Given the description of an element on the screen output the (x, y) to click on. 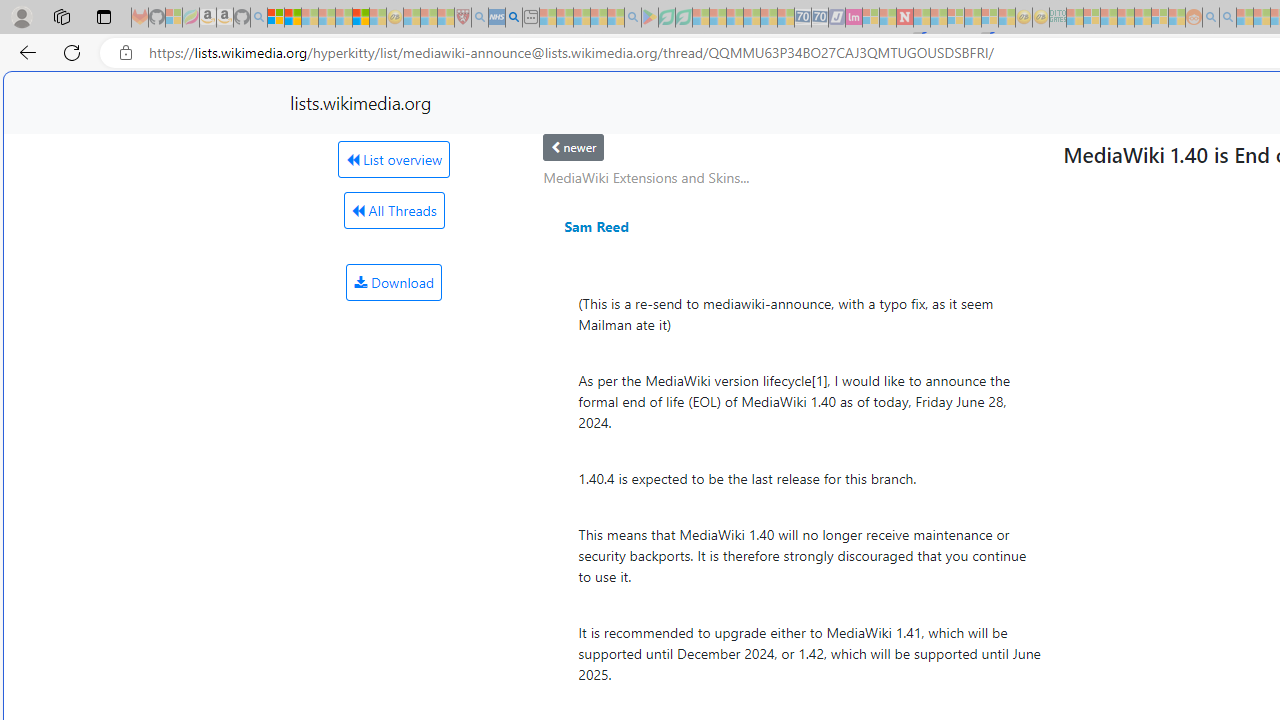
MediaWiki Extensions and Skins... (646, 177)
The Weather Channel - MSN - Sleeping (309, 17)
google - Search - Sleeping (632, 17)
